Given the description of an element on the screen output the (x, y) to click on. 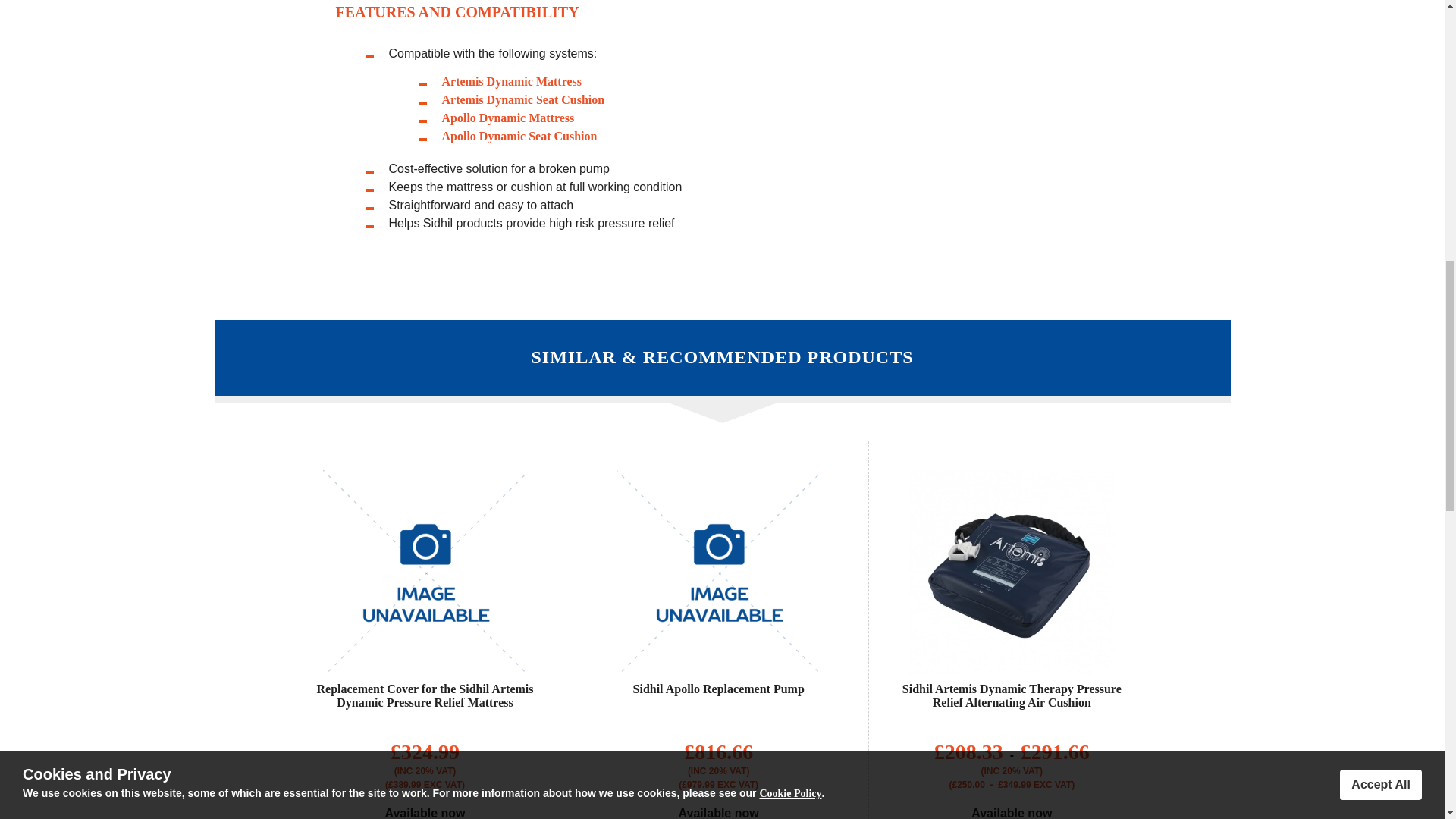
Sidhil Apollo Replacement Pump (719, 688)
Apollo Dynamic Seat Cushion (518, 135)
Artemis Dynamic Seat Cushion (522, 99)
Artemis Dynamic Mattress (510, 81)
Apollo Dynamic Mattress (507, 117)
